Given the description of an element on the screen output the (x, y) to click on. 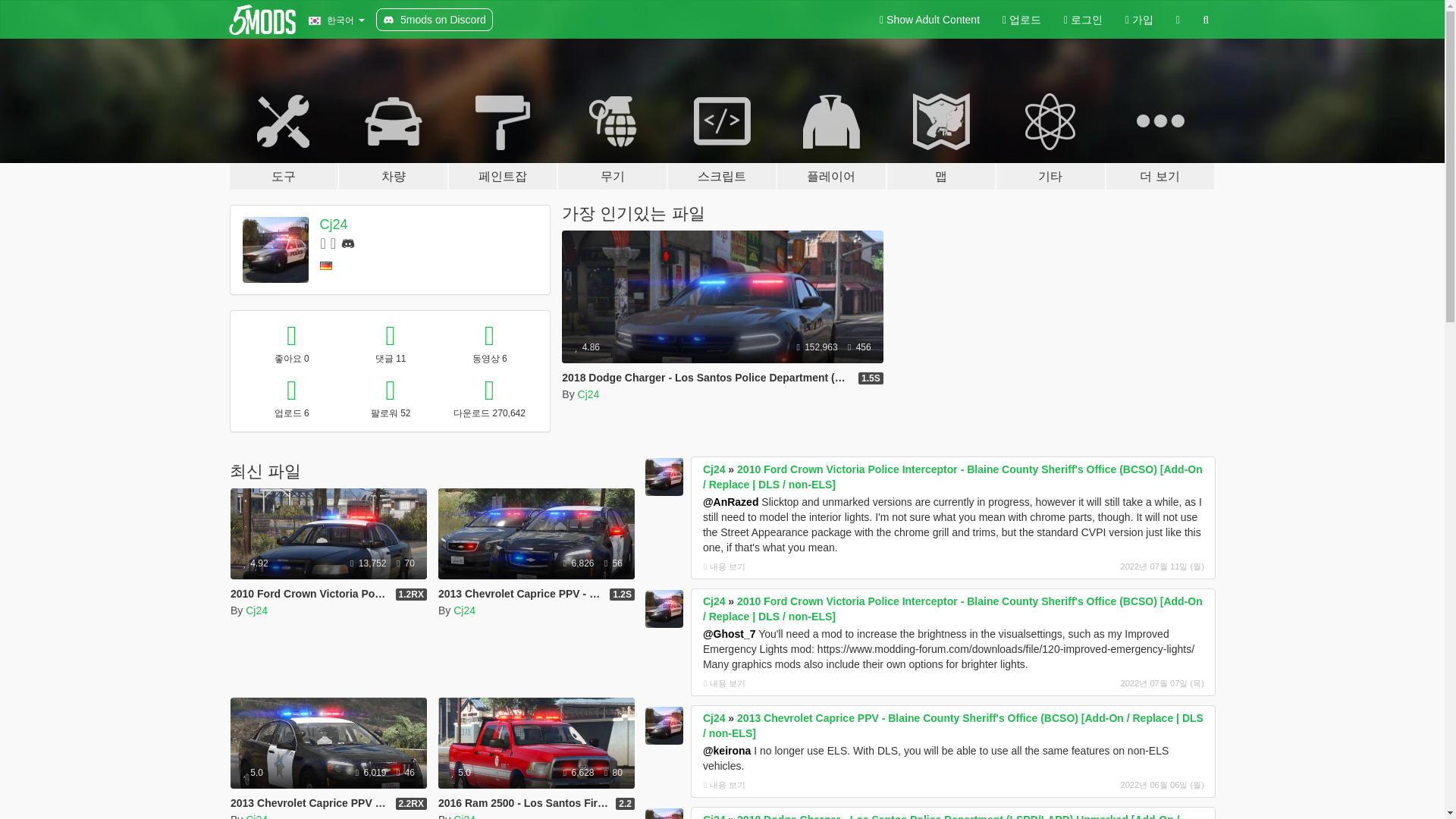
Show Adult Content (929, 19)
Light mode (929, 19)
4.86 star rating (586, 347)
5mods on Discord (434, 19)
Discord Server (347, 243)
1.5S (871, 378)
Cj24 (588, 394)
4.92 star rating (255, 562)
